Given the description of an element on the screen output the (x, y) to click on. 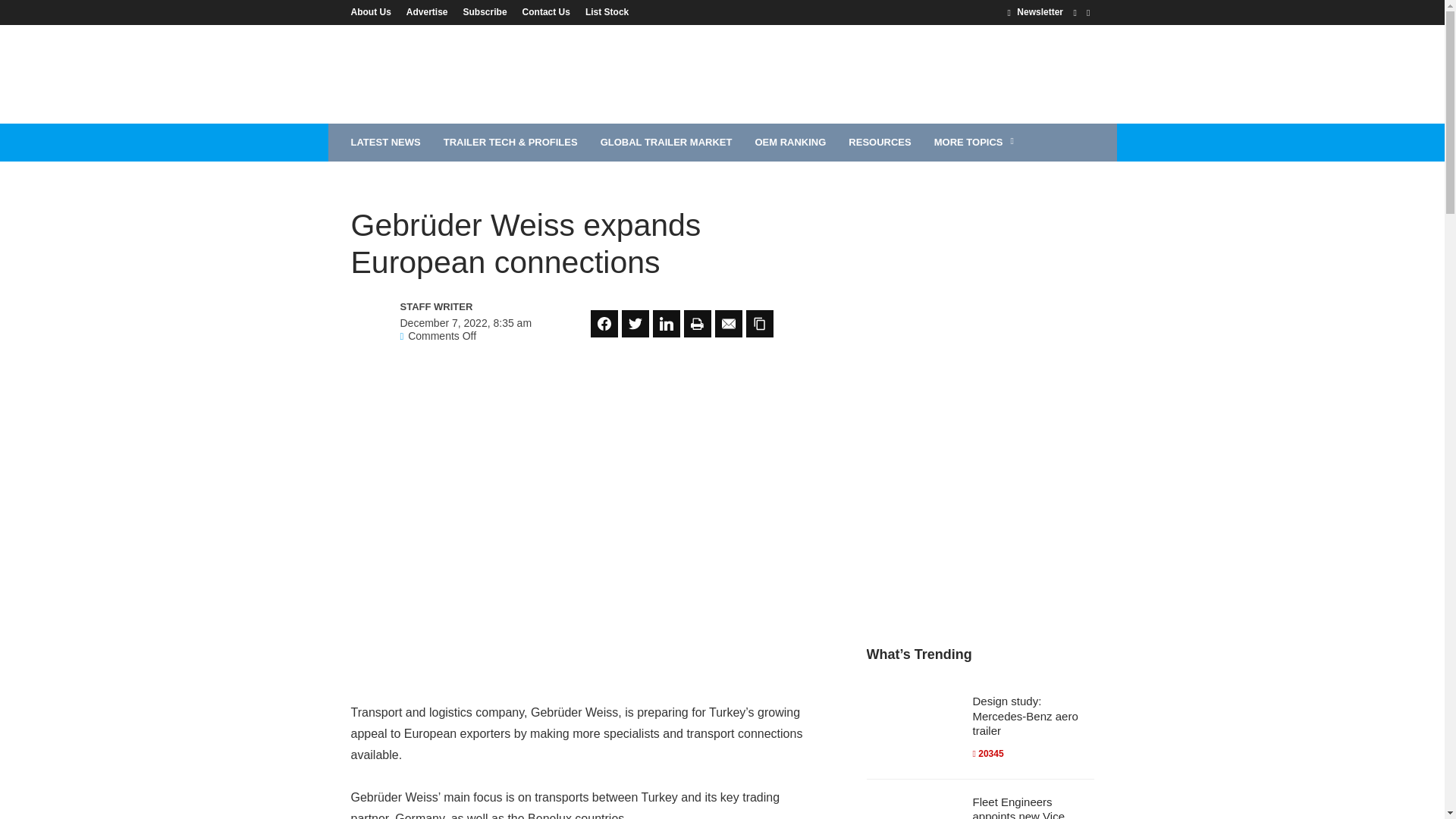
OEM RANKING (789, 142)
Share on Facebook (604, 323)
MARKETPLACE (388, 180)
About Us (373, 11)
Share on Email (728, 323)
Share on LinkedIn (665, 323)
Share on Twitter (635, 323)
Contact Us (546, 11)
GLOBAL TRAILER MARKET (666, 142)
STAFF WRITER (465, 306)
